Given the description of an element on the screen output the (x, y) to click on. 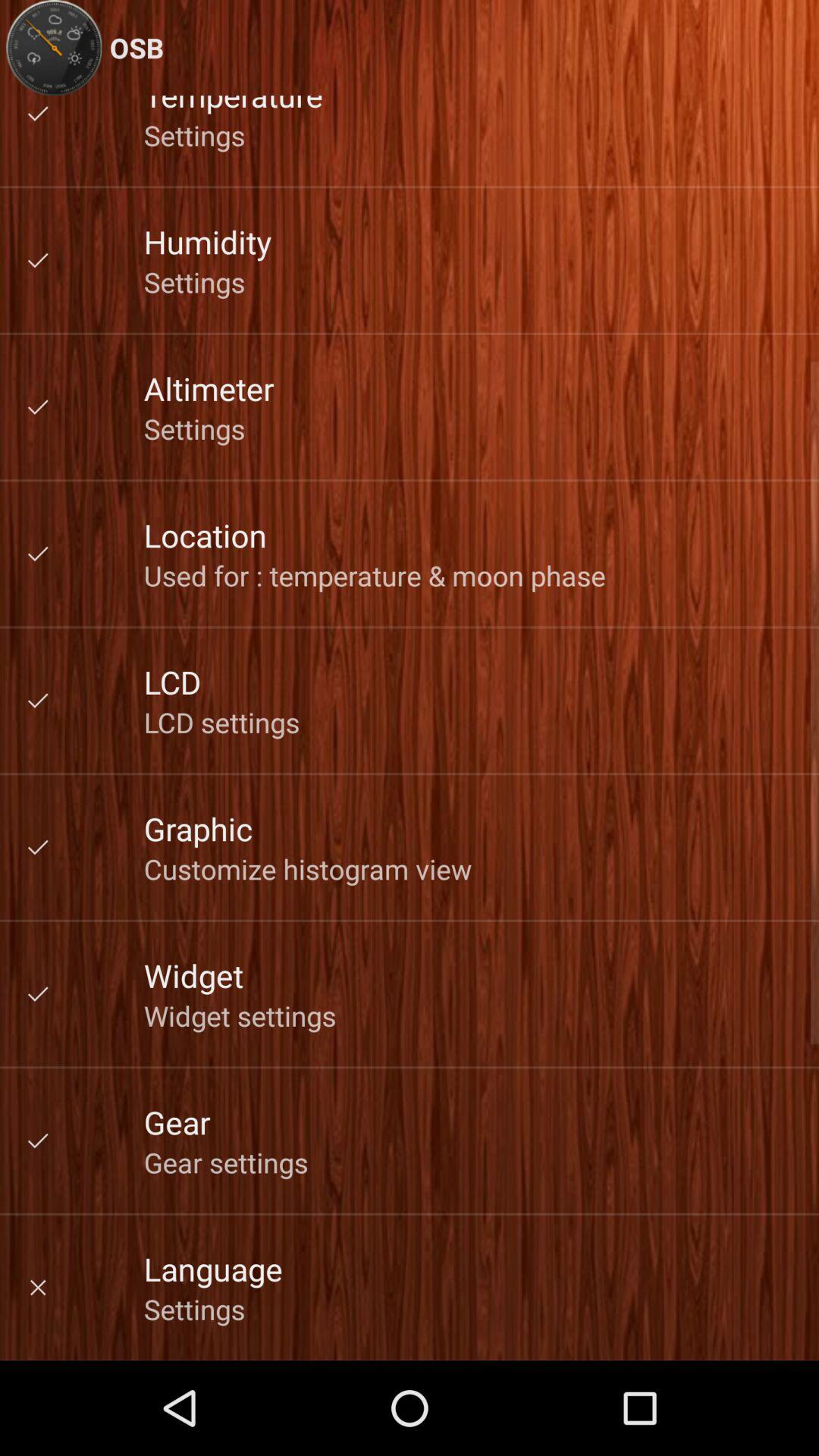
launch item above lcd item (374, 575)
